Given the description of an element on the screen output the (x, y) to click on. 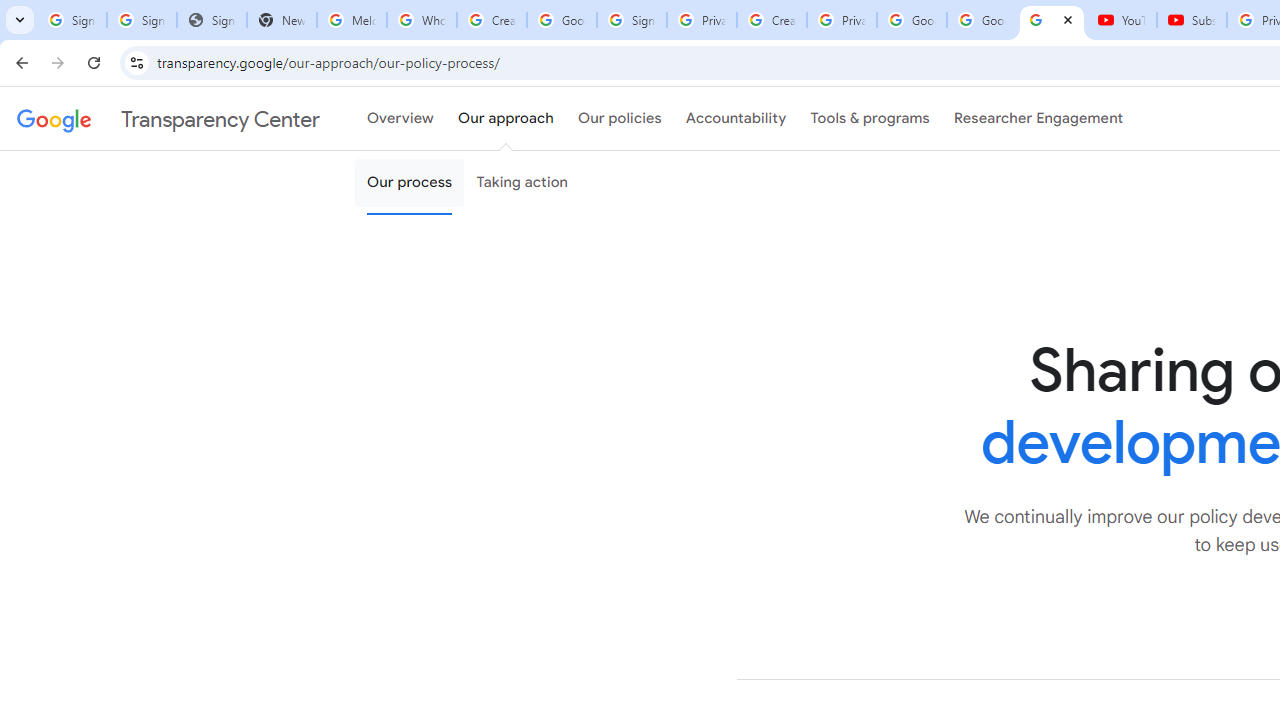
Taking action (522, 183)
Create your Google Account (772, 20)
Accountability (735, 119)
Tools & programs (869, 119)
Sign in - Google Accounts (631, 20)
Google Account (982, 20)
Create your Google Account (492, 20)
Subscriptions - YouTube (1192, 20)
